Given the description of an element on the screen output the (x, y) to click on. 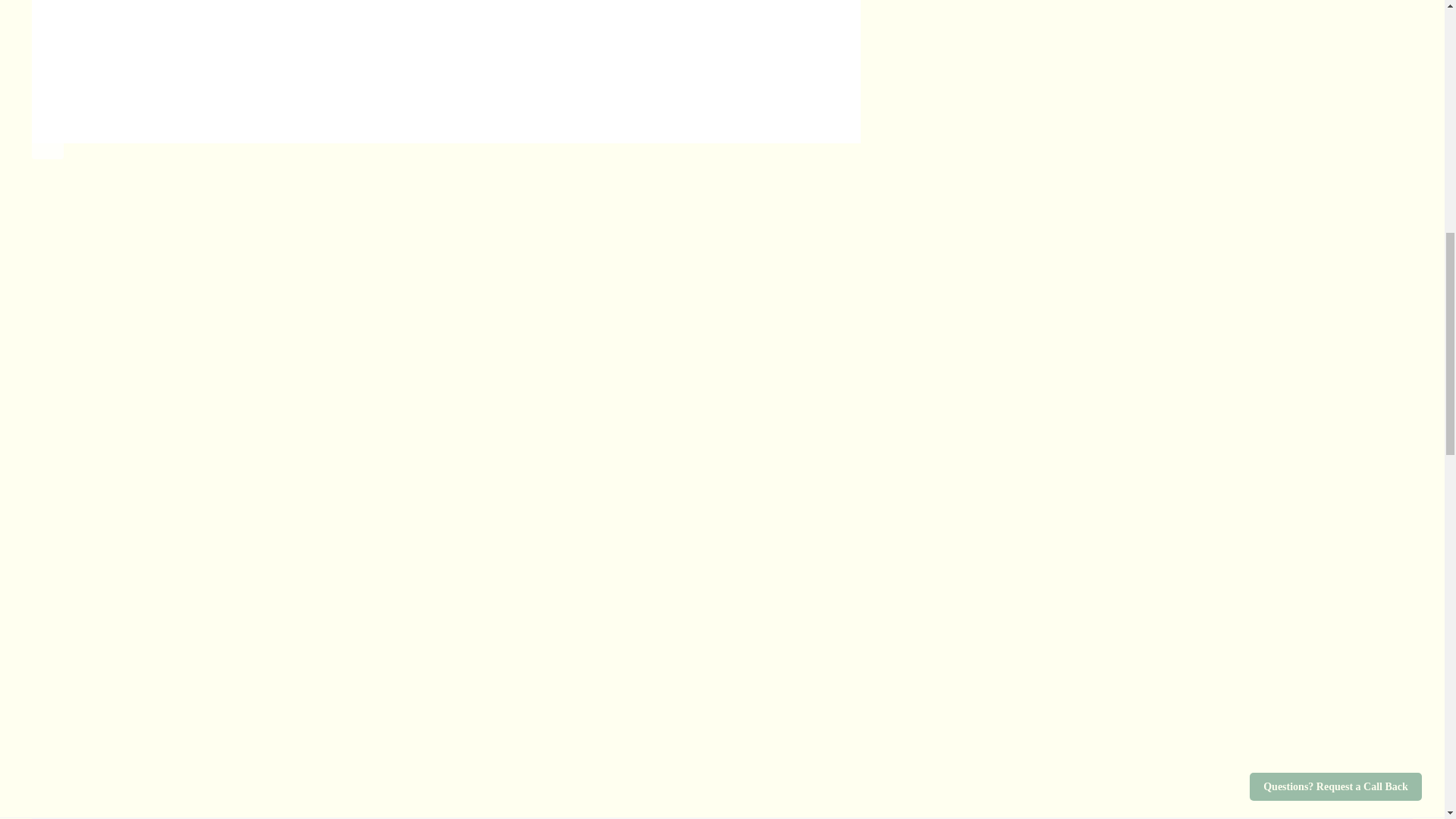
miroir-enfant-411018 (132, 283)
miroir-enfant-511142 (132, 485)
miroir-enfant-250516 (132, 686)
click to zoom-in (446, 72)
